Given the description of an element on the screen output the (x, y) to click on. 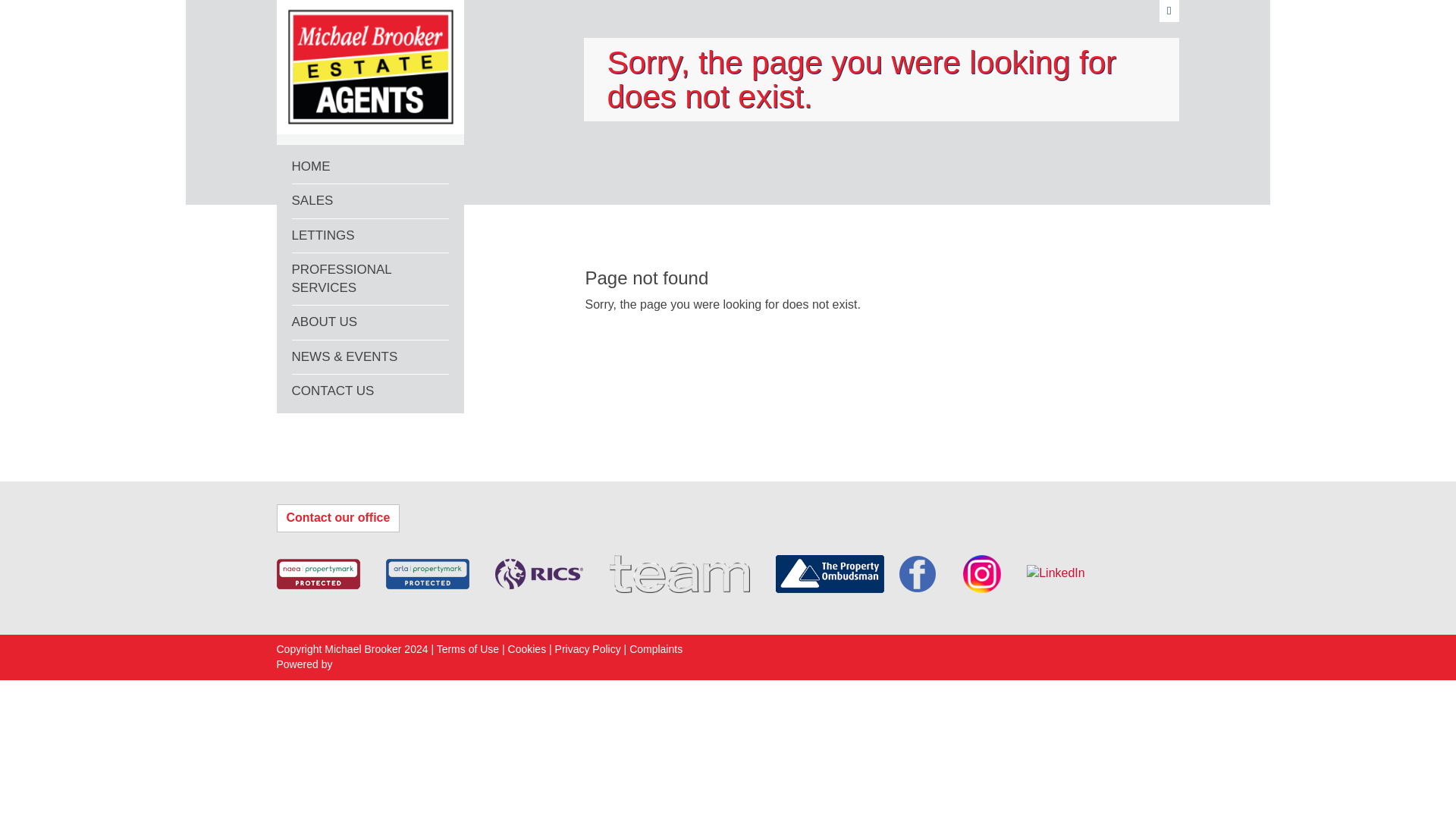
Cookies (527, 648)
Privacy Policy (586, 648)
HOME (369, 166)
Contact our office (337, 518)
PROFESSIONAL SERVICES (369, 279)
Complaints (655, 648)
SALES (369, 201)
Terms of Use (467, 648)
CONTACT US (369, 390)
LETTINGS (369, 236)
ABOUT US (369, 322)
